Given the description of an element on the screen output the (x, y) to click on. 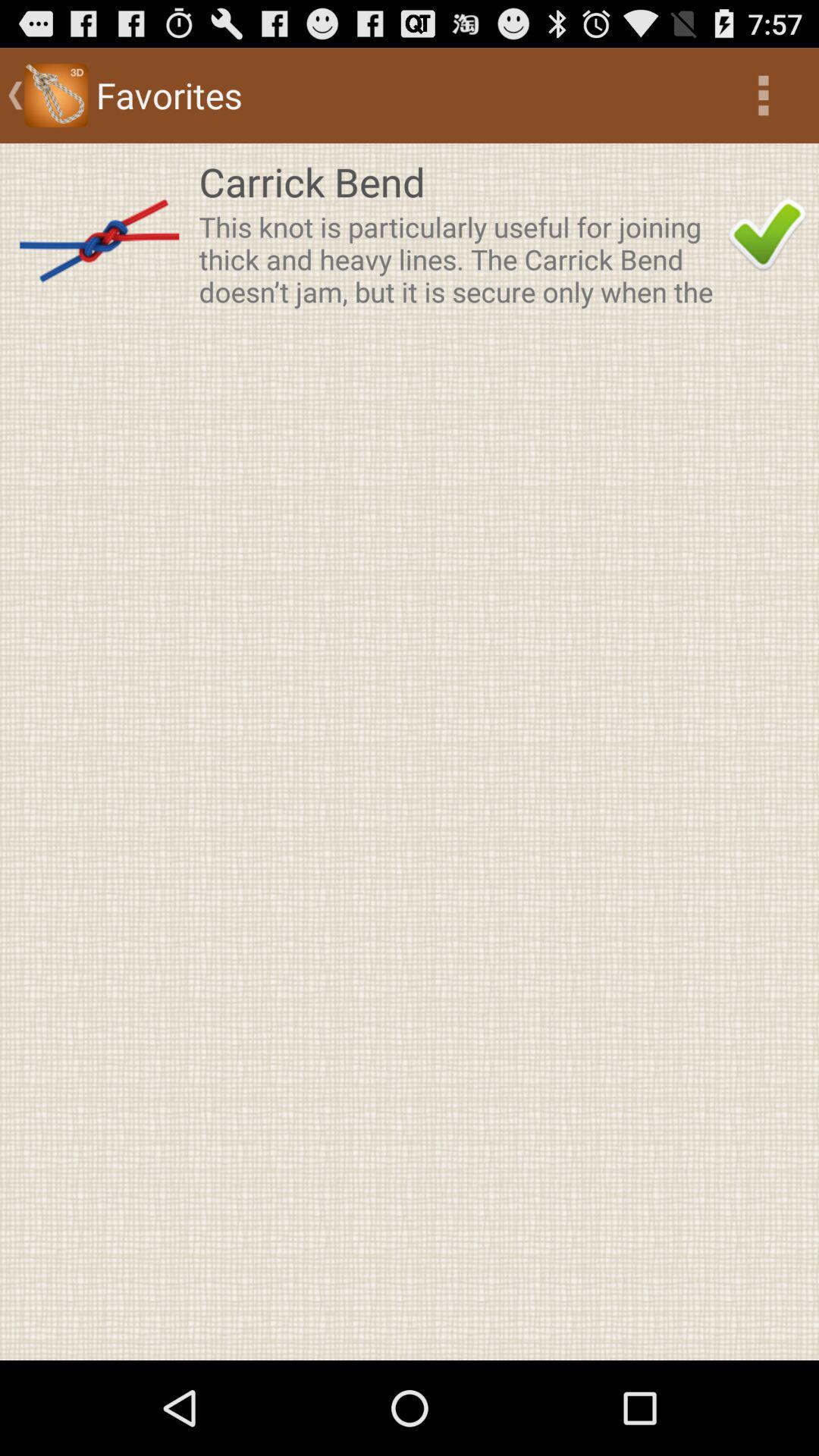
open the icon above carrick bend app (763, 95)
